Given the description of an element on the screen output the (x, y) to click on. 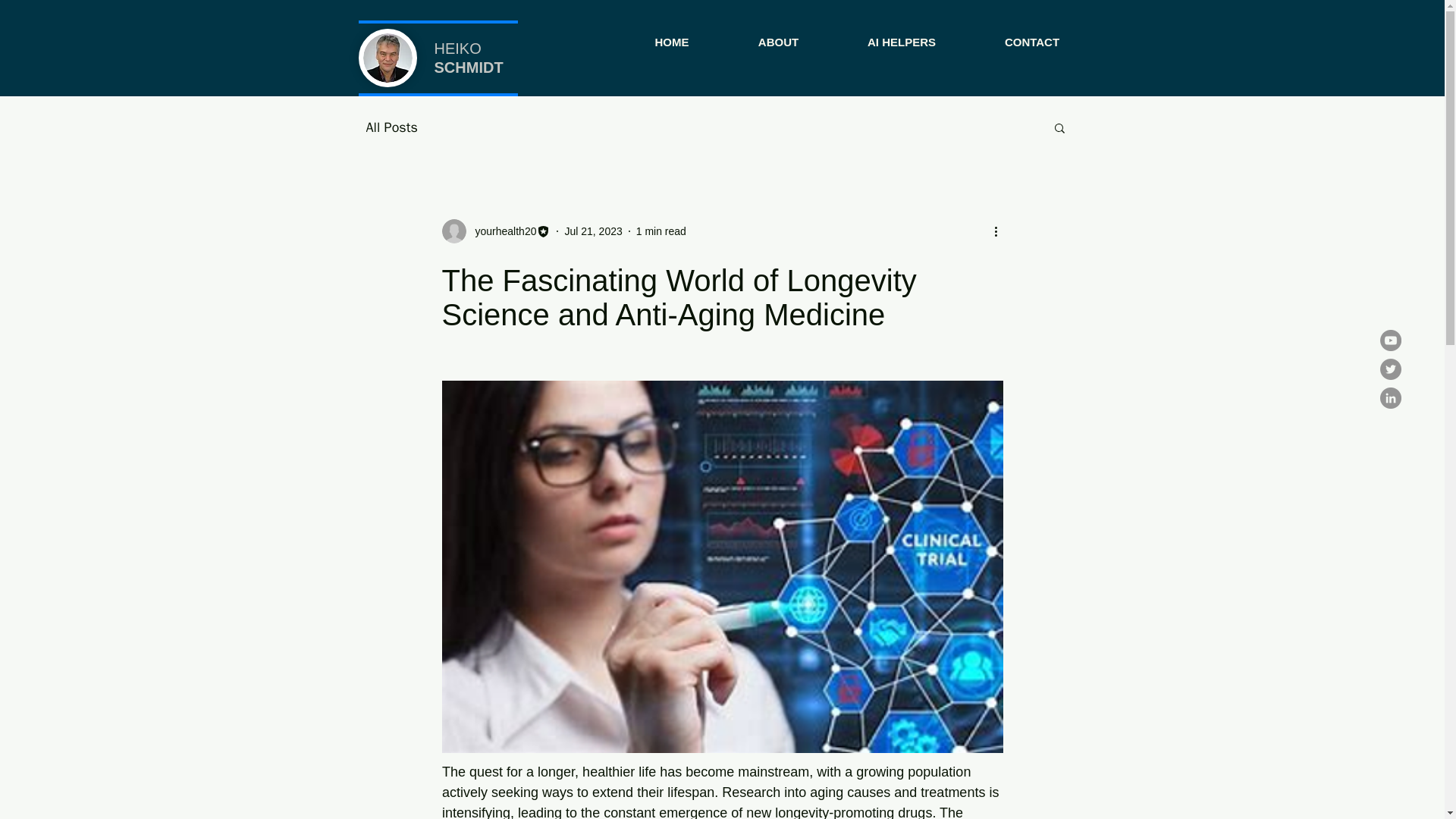
yourhealth20 (500, 230)
CONTACT (1032, 35)
1 min read (660, 230)
HEIKO SCHMIDT (467, 58)
ABOUT (777, 35)
HOME (671, 35)
All Posts (390, 126)
AI HELPERS (900, 35)
yourhealth20 (495, 231)
Jul 21, 2023 (592, 230)
